Given the description of an element on the screen output the (x, y) to click on. 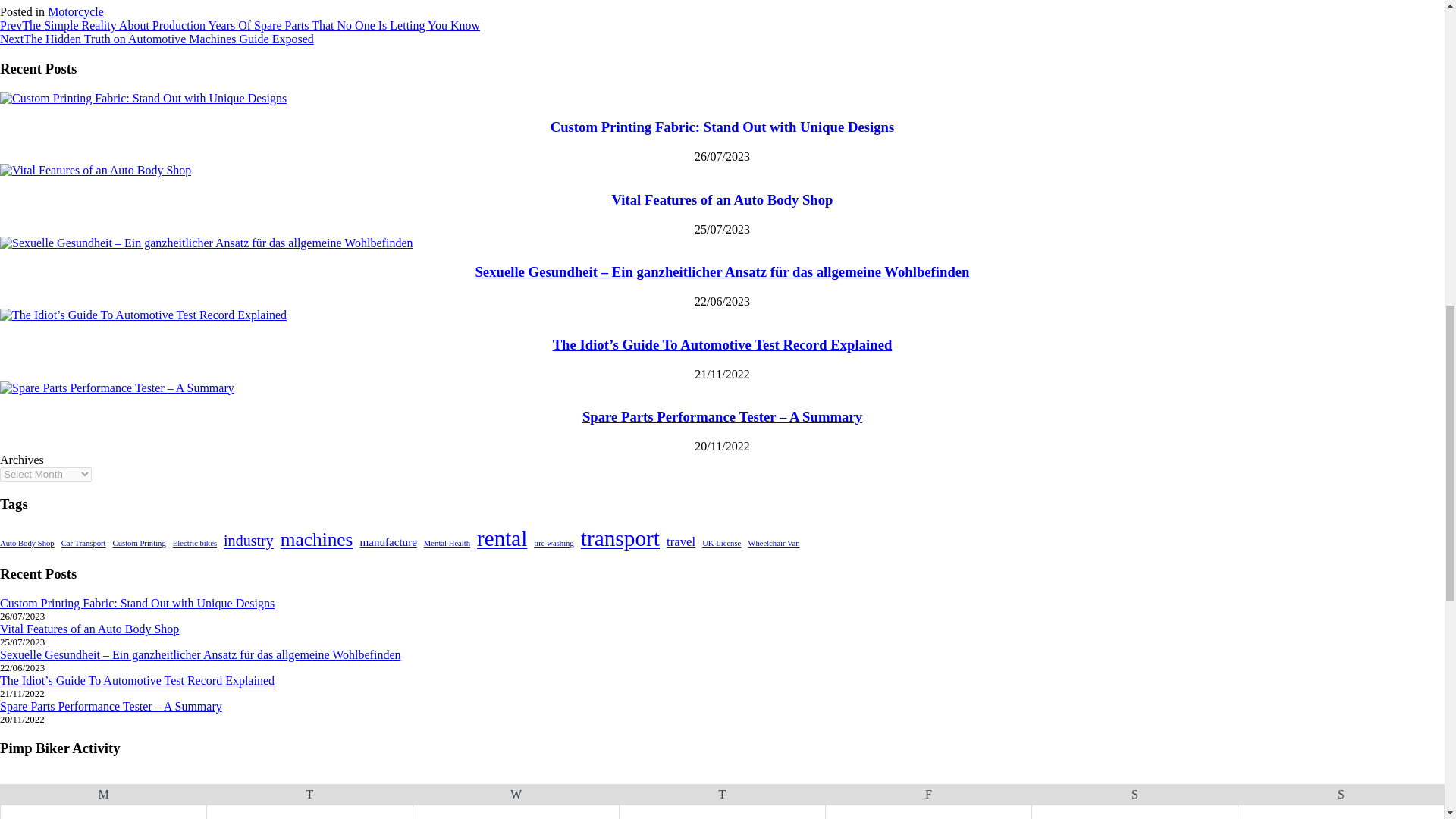
Thursday (721, 794)
NextThe Hidden Truth on Automotive Machines Guide Exposed (157, 38)
tire washing (553, 542)
Vital Features of an Auto Body Shop (721, 199)
Custom Printing (139, 542)
Electric bikes (194, 542)
manufacture (387, 542)
Auto Body Shop (27, 542)
Sunday (1340, 794)
Friday (927, 794)
Monday (103, 794)
rental (502, 538)
Motorcycle (75, 11)
Custom Printing Fabric: Stand Out with Unique Designs (722, 126)
